Given the description of an element on the screen output the (x, y) to click on. 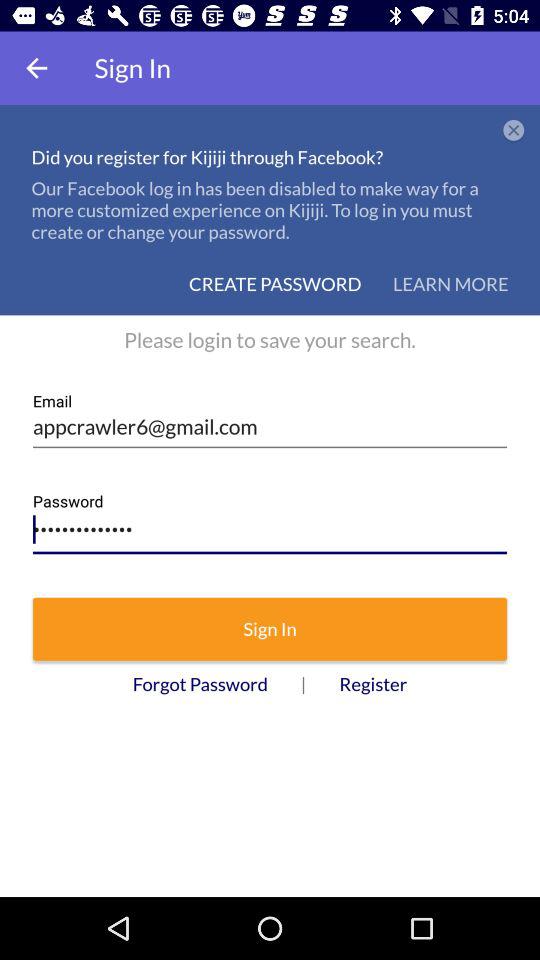
click icon to the left of the | icon (199, 683)
